Given the description of an element on the screen output the (x, y) to click on. 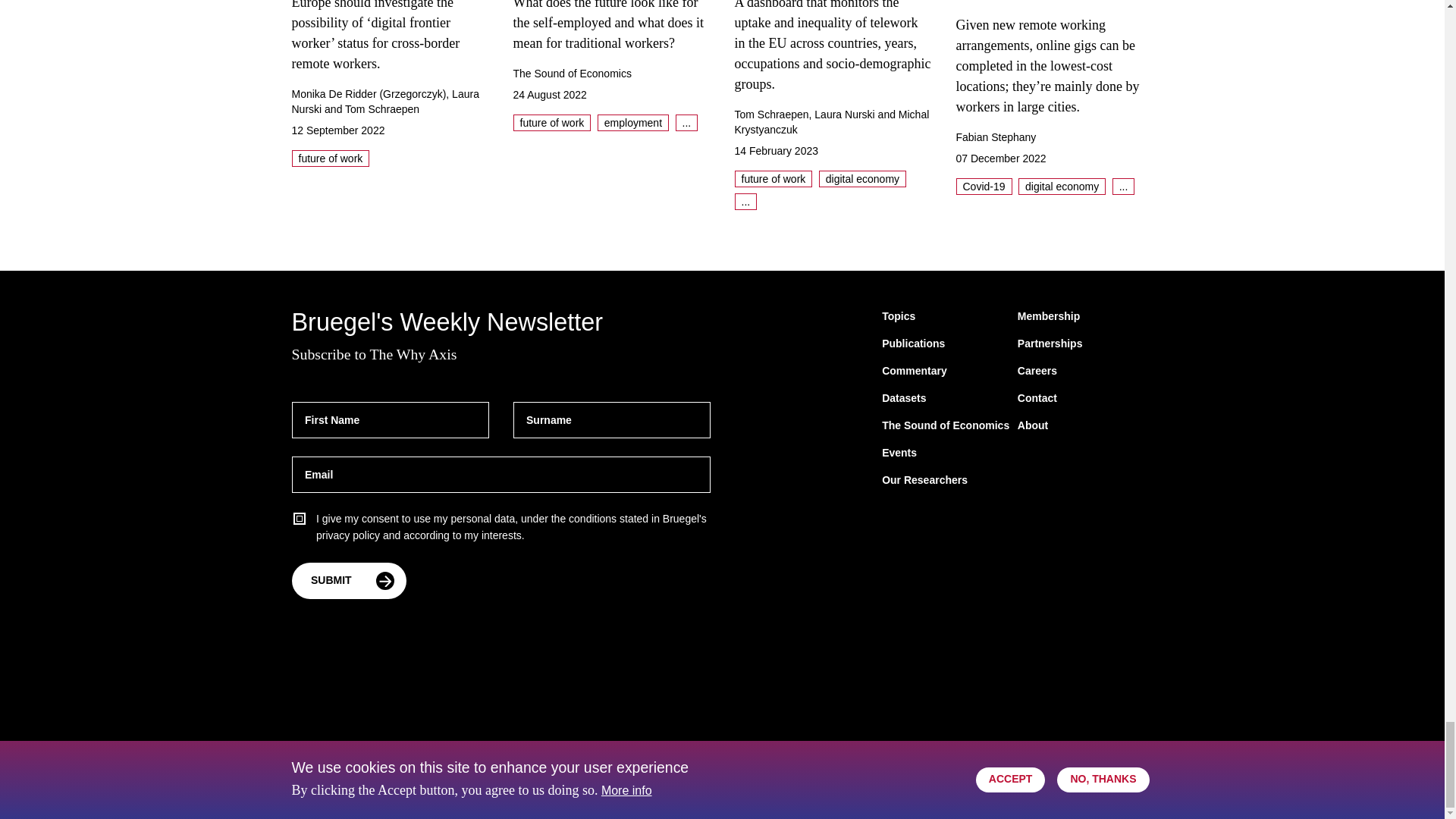
Follow us on Twitter (1018, 782)
Topics (898, 316)
